Given the description of an element on the screen output the (x, y) to click on. 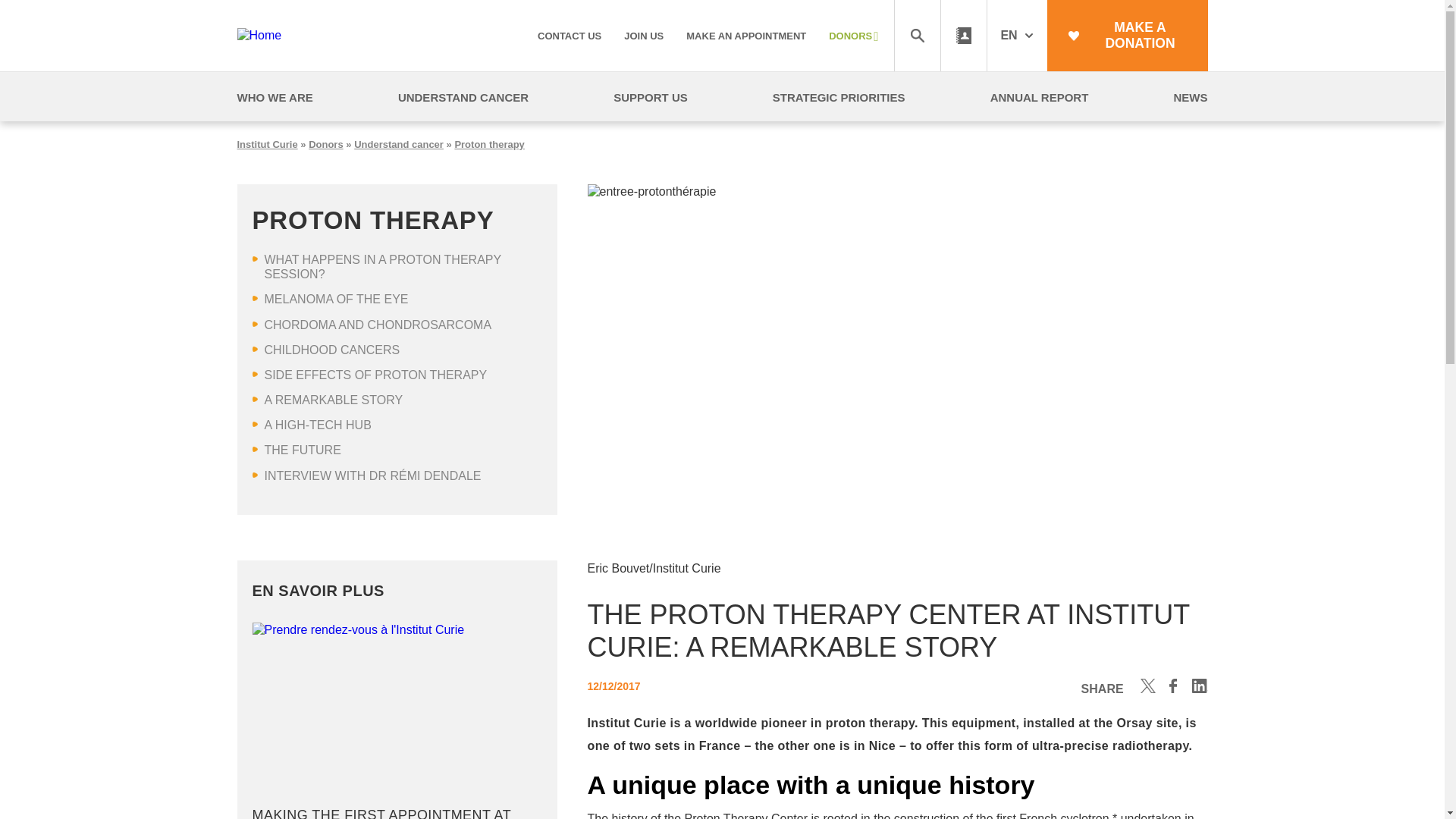
MAKE AN APPOINTMENT (745, 35)
CONTACT US (569, 35)
Making the first appointment at Institut Curie (396, 720)
MAKE A DONATION (1126, 35)
UNDERSTAND CANCER (462, 97)
WHO WE ARE (274, 97)
Home (291, 34)
DONORS (852, 35)
SUPPORT US (649, 97)
JOIN US (643, 35)
